Given the description of an element on the screen output the (x, y) to click on. 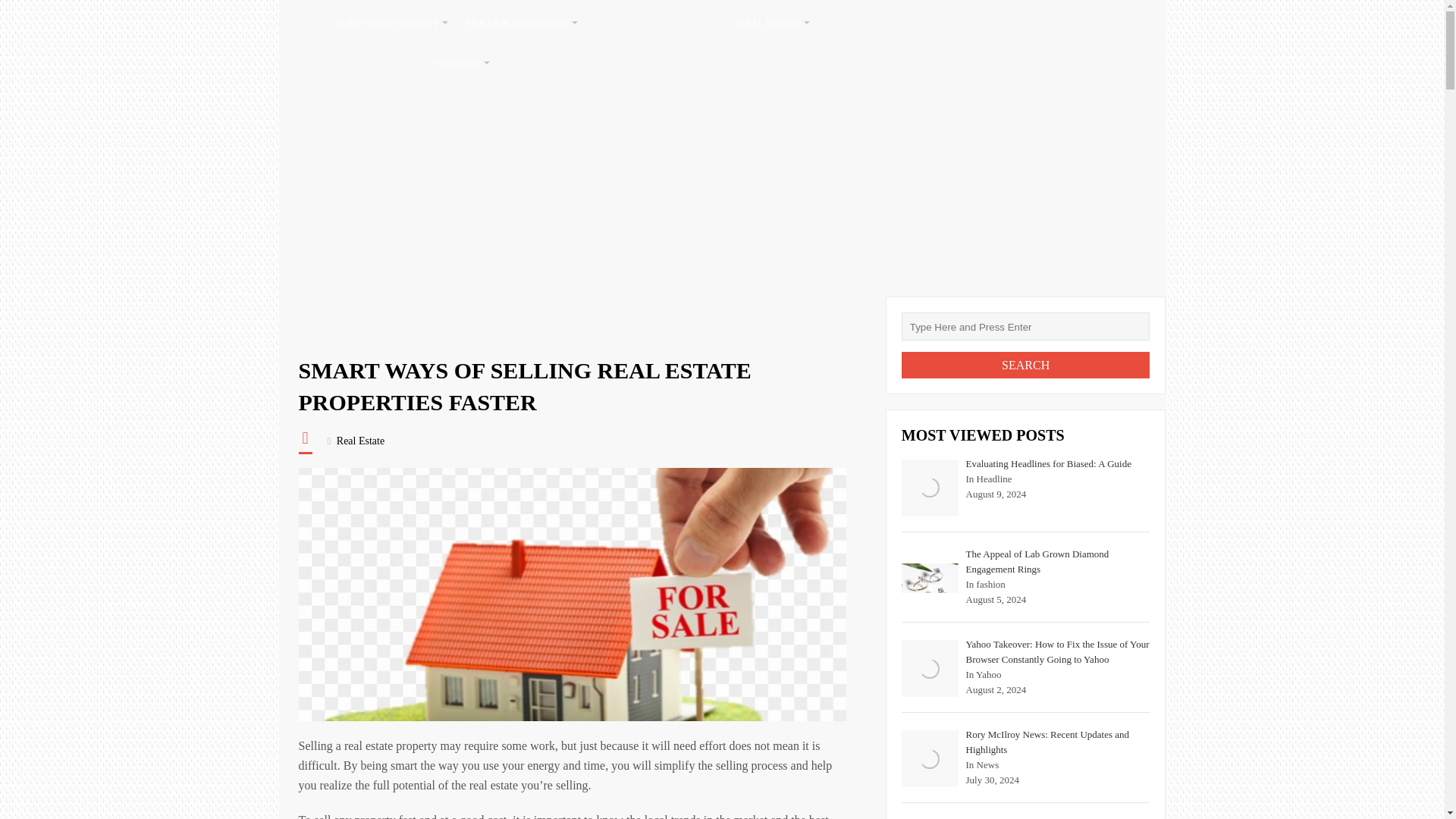
Real Estate (368, 315)
KITCHEN IMPROVEMENTS (657, 23)
Home (317, 315)
Search (1025, 365)
REAL ESTATE (773, 23)
Evaluating Headlines for Biased: A Guide (929, 487)
Search (1025, 365)
CABINETS (851, 23)
HOME (302, 23)
APPLIANCES (975, 23)
